Given the description of an element on the screen output the (x, y) to click on. 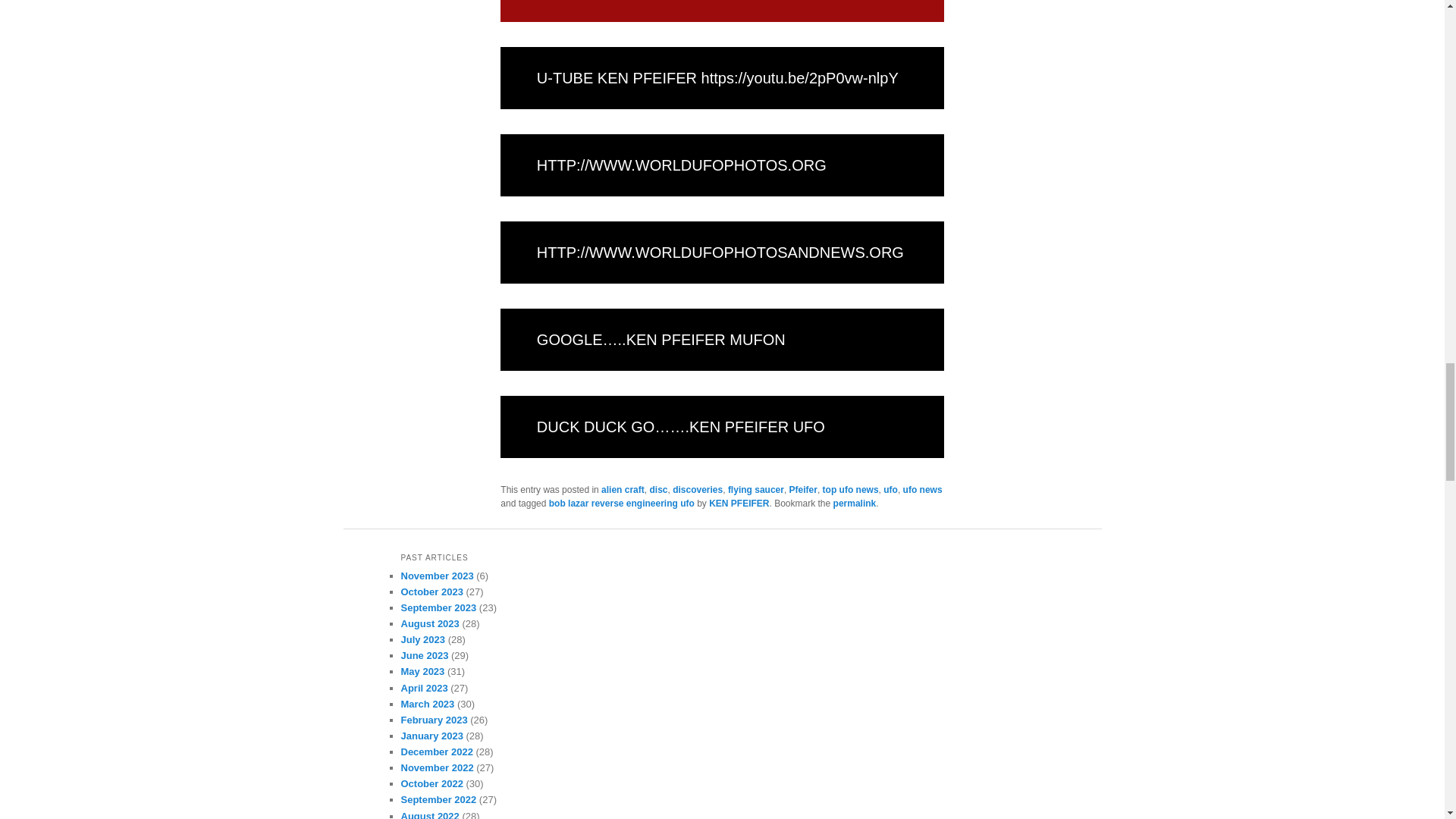
May 2023 (422, 671)
KEN PFEIFER (738, 502)
ufo (890, 489)
flying saucer (756, 489)
discoveries (697, 489)
alien craft (623, 489)
Pfeifer (802, 489)
June 2023 (424, 655)
top ufo news (850, 489)
disc (657, 489)
